Given the description of an element on the screen output the (x, y) to click on. 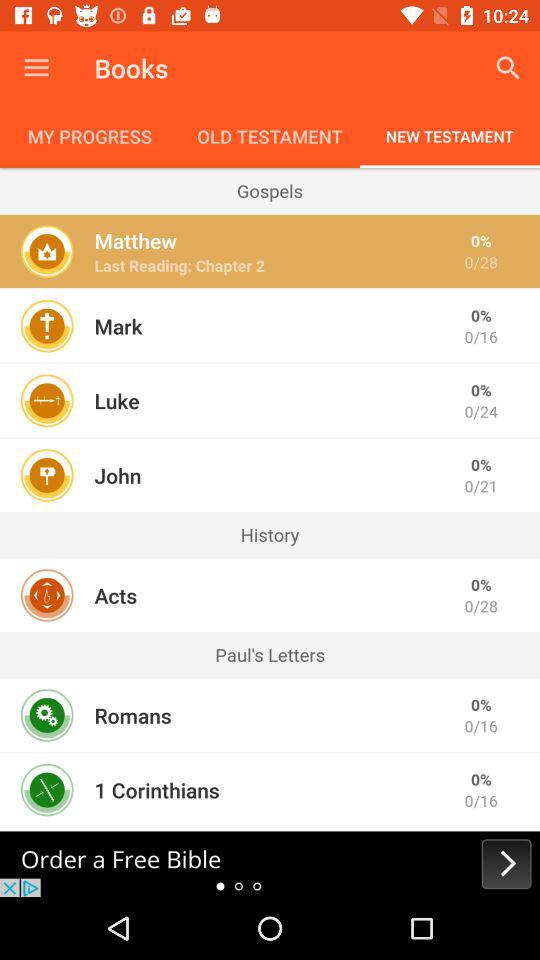
open icon above paul's letters item (115, 595)
